Given the description of an element on the screen output the (x, y) to click on. 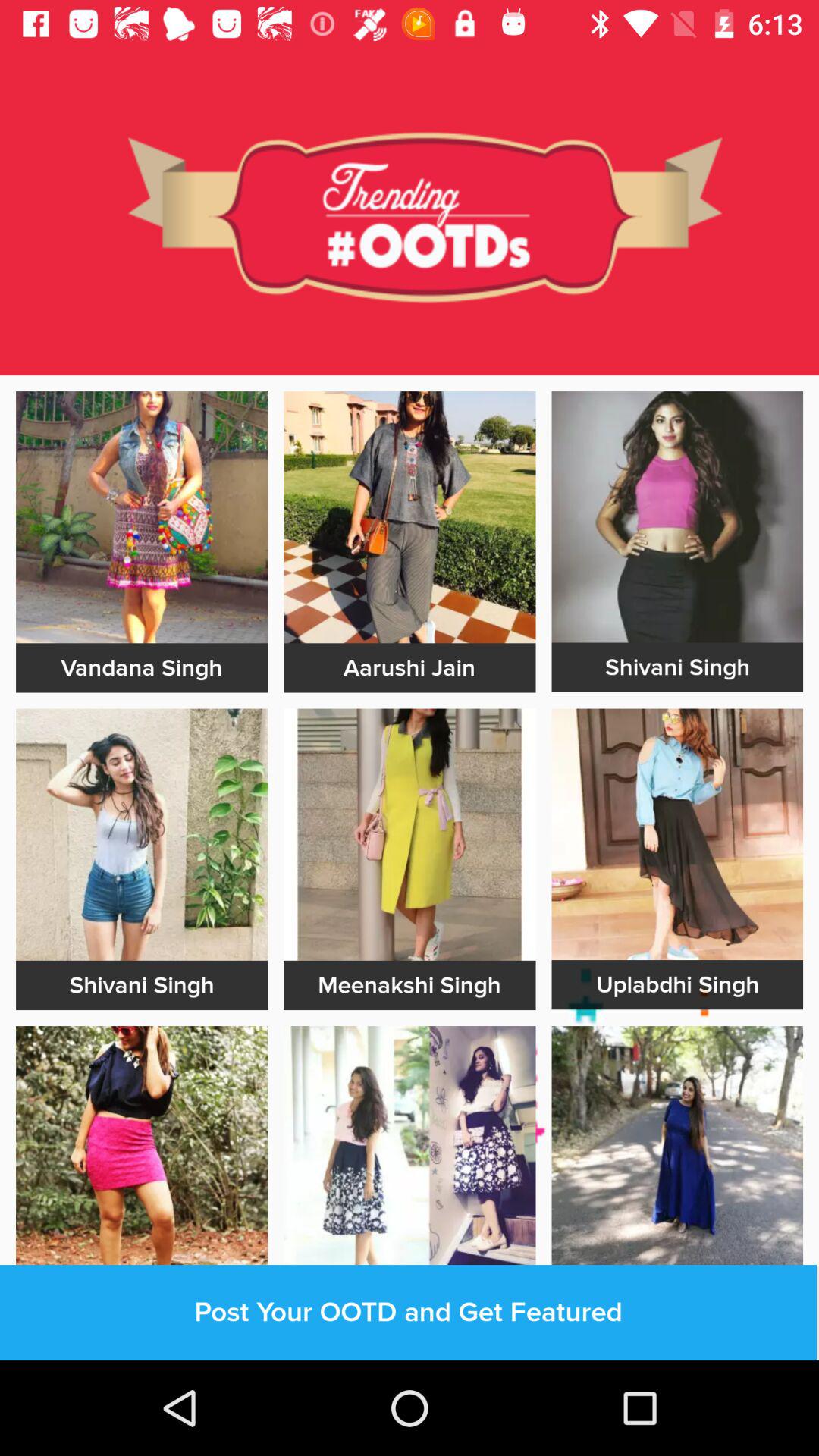
vandana singh image (141, 517)
